Given the description of an element on the screen output the (x, y) to click on. 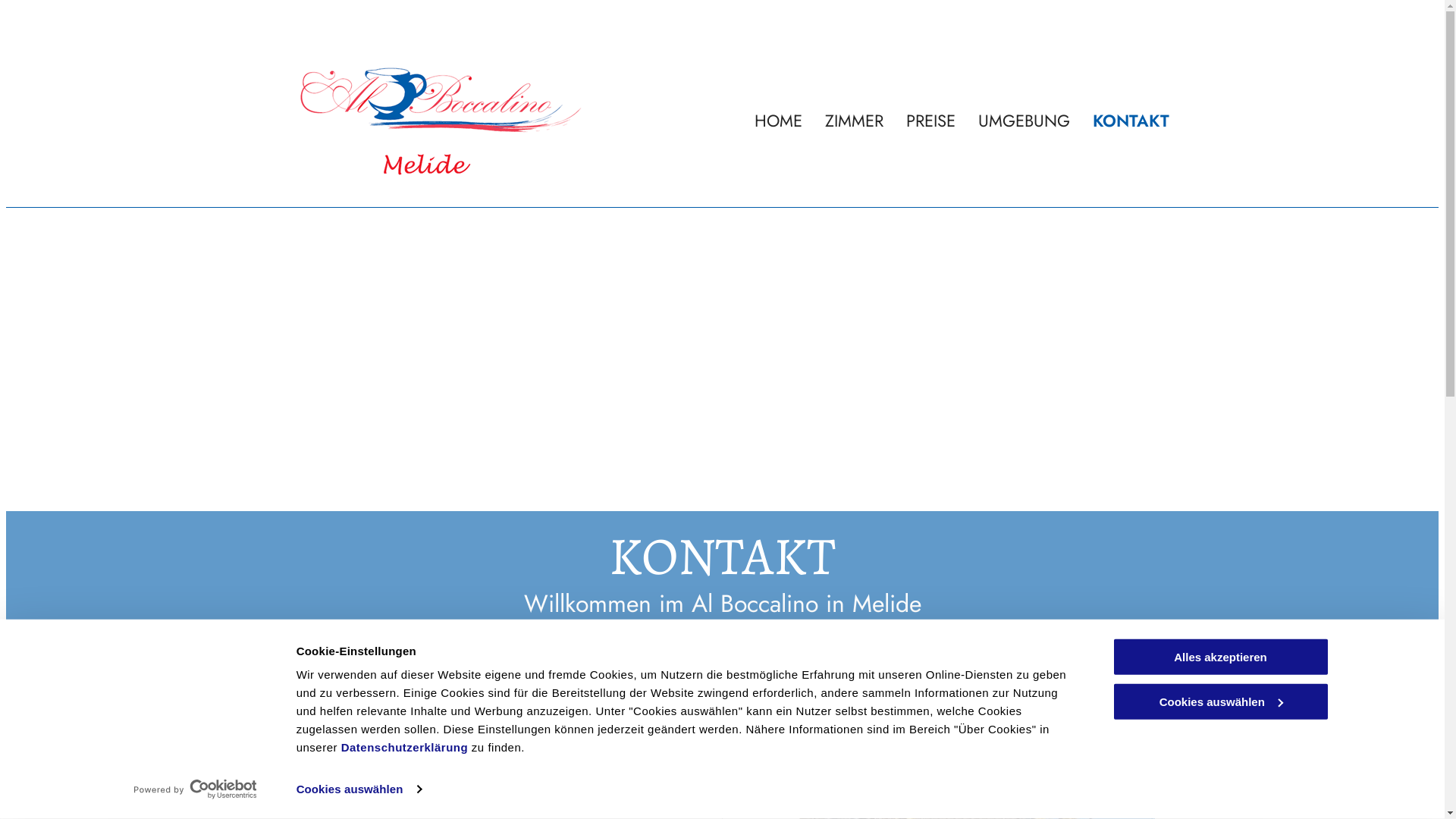
ZIMMER Element type: text (854, 120)
PREISE Element type: text (930, 120)
HOME Element type: text (778, 120)
UMGEBUNG Element type: text (1024, 120)
KONTAKT Element type: text (1130, 120)
Alles akzeptieren Element type: text (1219, 656)
